Given the description of an element on the screen output the (x, y) to click on. 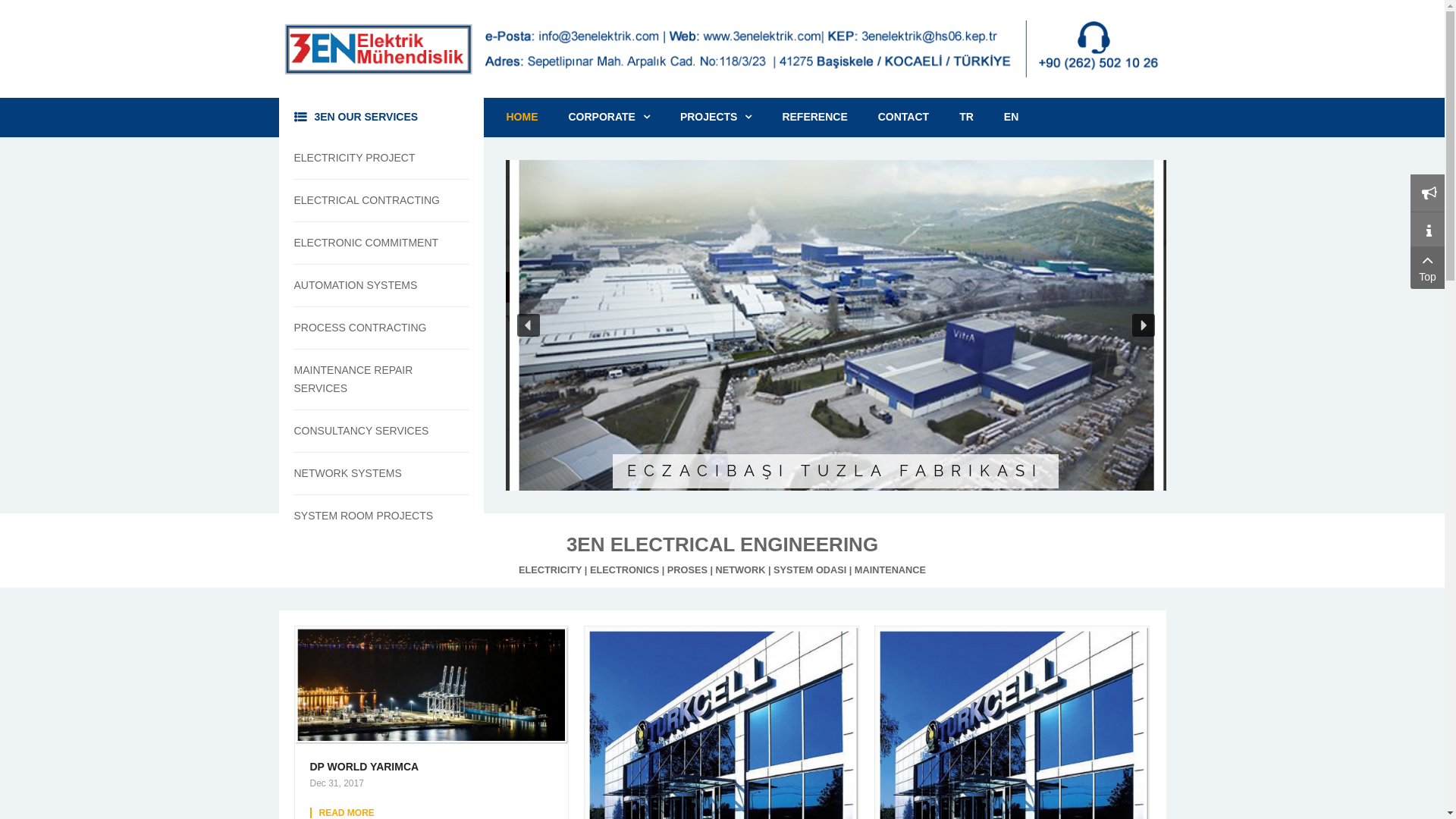
CONSULTANCY SERVICES Element type: text (371, 430)
NETWORK SYSTEMS Element type: text (371, 473)
REFERENCE Element type: text (814, 116)
Top Element type: text (1427, 267)
CONTACT Element type: text (903, 116)
ELECTRICAL CONTRACTING Element type: text (371, 200)
DP WORLD YARIMCA Element type: hover (430, 683)
MAINTENANCE REPAIR SERVICES Element type: text (371, 378)
ELECTRONIC COMMITMENT Element type: text (371, 242)
PROCESS CONTRACTING Element type: text (371, 327)
TR Element type: text (966, 116)
DP WORLD YARIMCA Element type: text (430, 766)
AUTOMATION SYSTEMS Element type: text (371, 285)
CORPORATE Element type: text (609, 116)
EN Element type: text (1010, 116)
READ MORE Element type: text (345, 812)
ELECTRICITY PROJECT Element type: text (371, 157)
SYSTEM ROOM PROJECTS Element type: text (371, 515)
HOME Element type: text (529, 116)
